Given the description of an element on the screen output the (x, y) to click on. 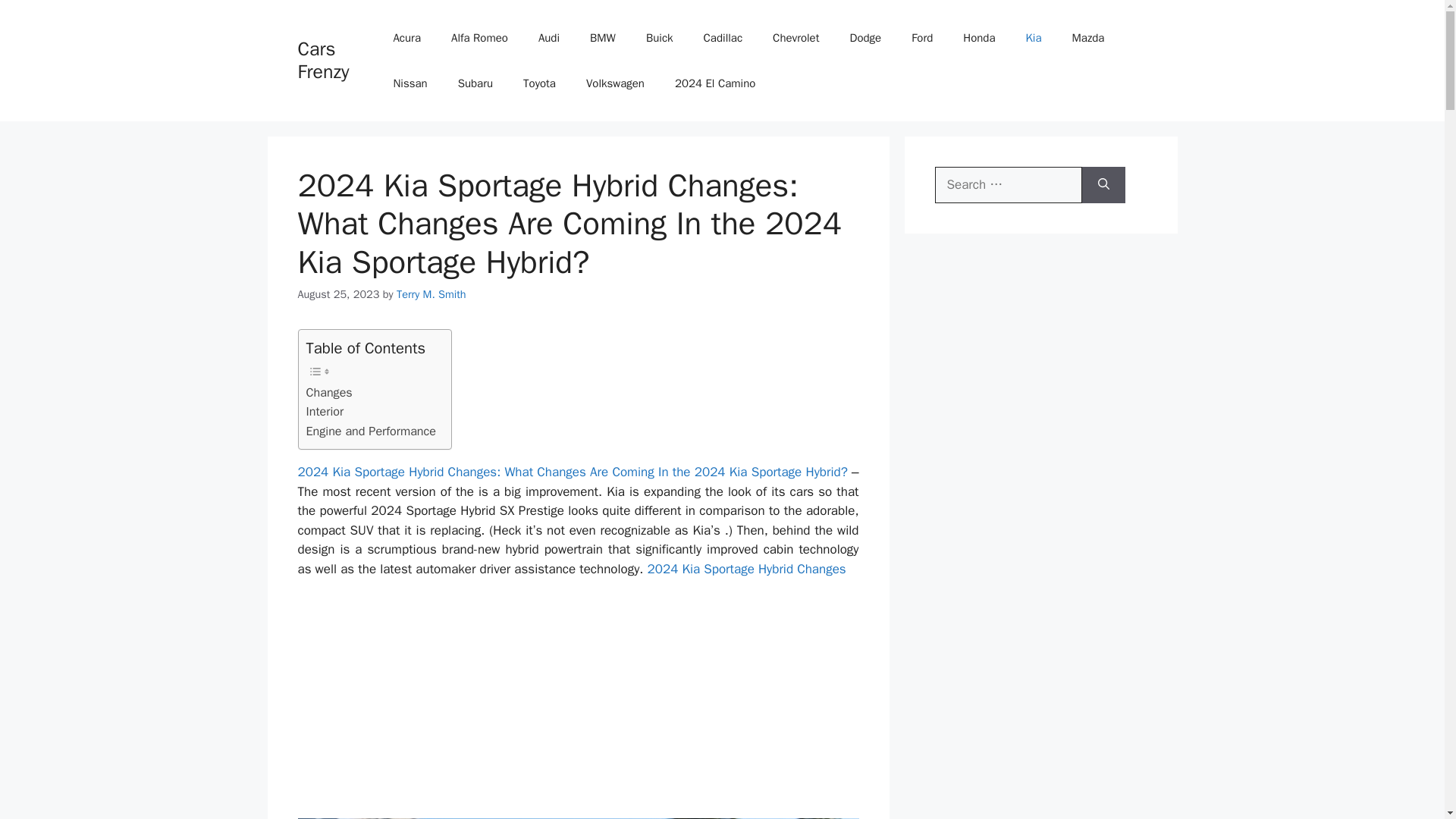
Alfa Romeo (478, 37)
Cadillac (723, 37)
Changes (328, 392)
Cars Frenzy (323, 59)
Buick (659, 37)
Toyota (539, 83)
Acura (406, 37)
Chevrolet (795, 37)
Changes (328, 392)
Engine and Performance (370, 431)
